Given the description of an element on the screen output the (x, y) to click on. 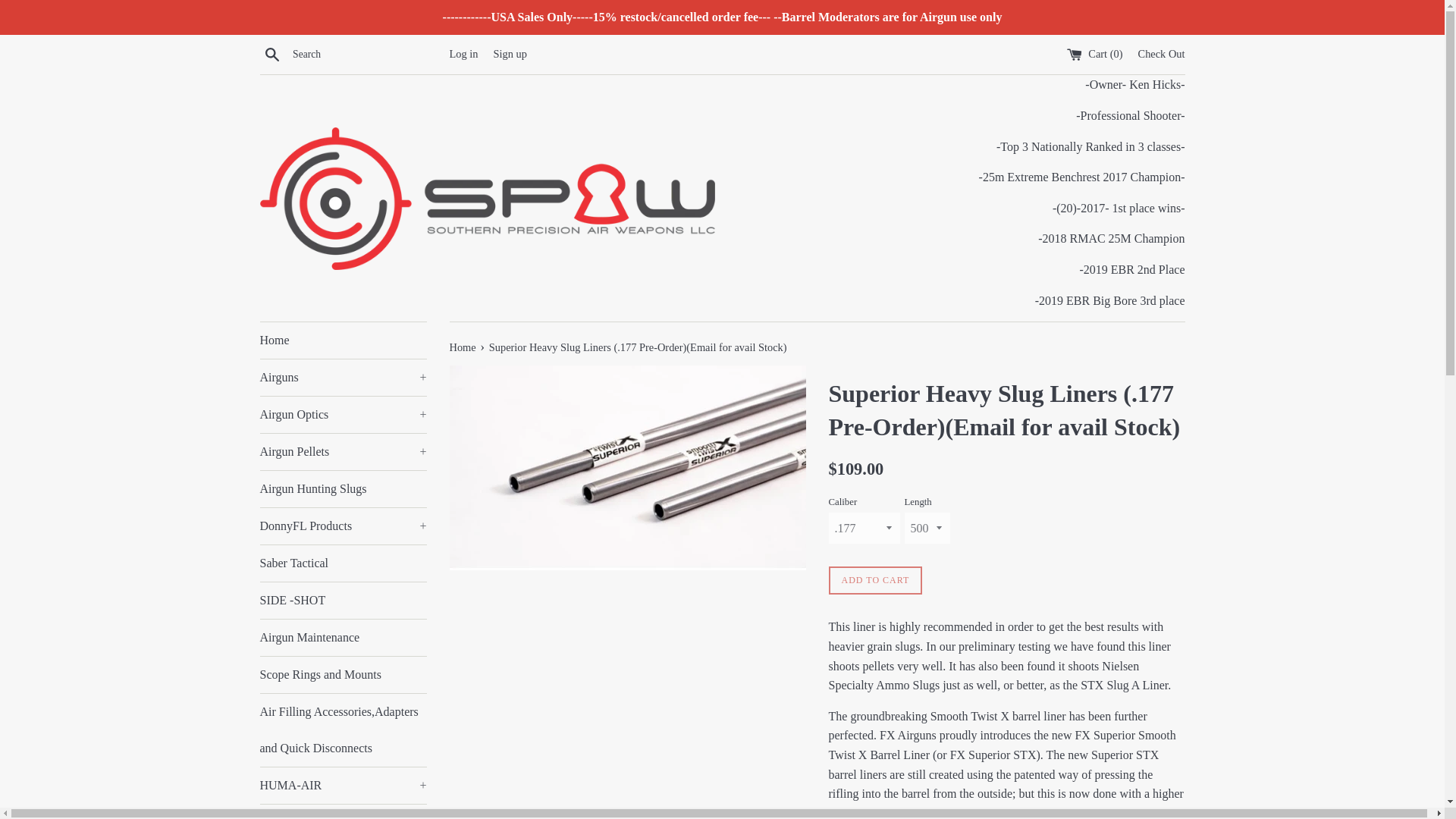
SIDE -SHOT (342, 600)
Air Filling Accessories,Adapters and Quick Disconnects (342, 729)
Check Out (1161, 53)
Airgun Maintenance (342, 637)
Saber Tactical (342, 563)
Log in (462, 53)
Sign up (510, 53)
Back to the frontpage (463, 346)
Search (271, 53)
Scope Rings and Mounts (342, 674)
